Given the description of an element on the screen output the (x, y) to click on. 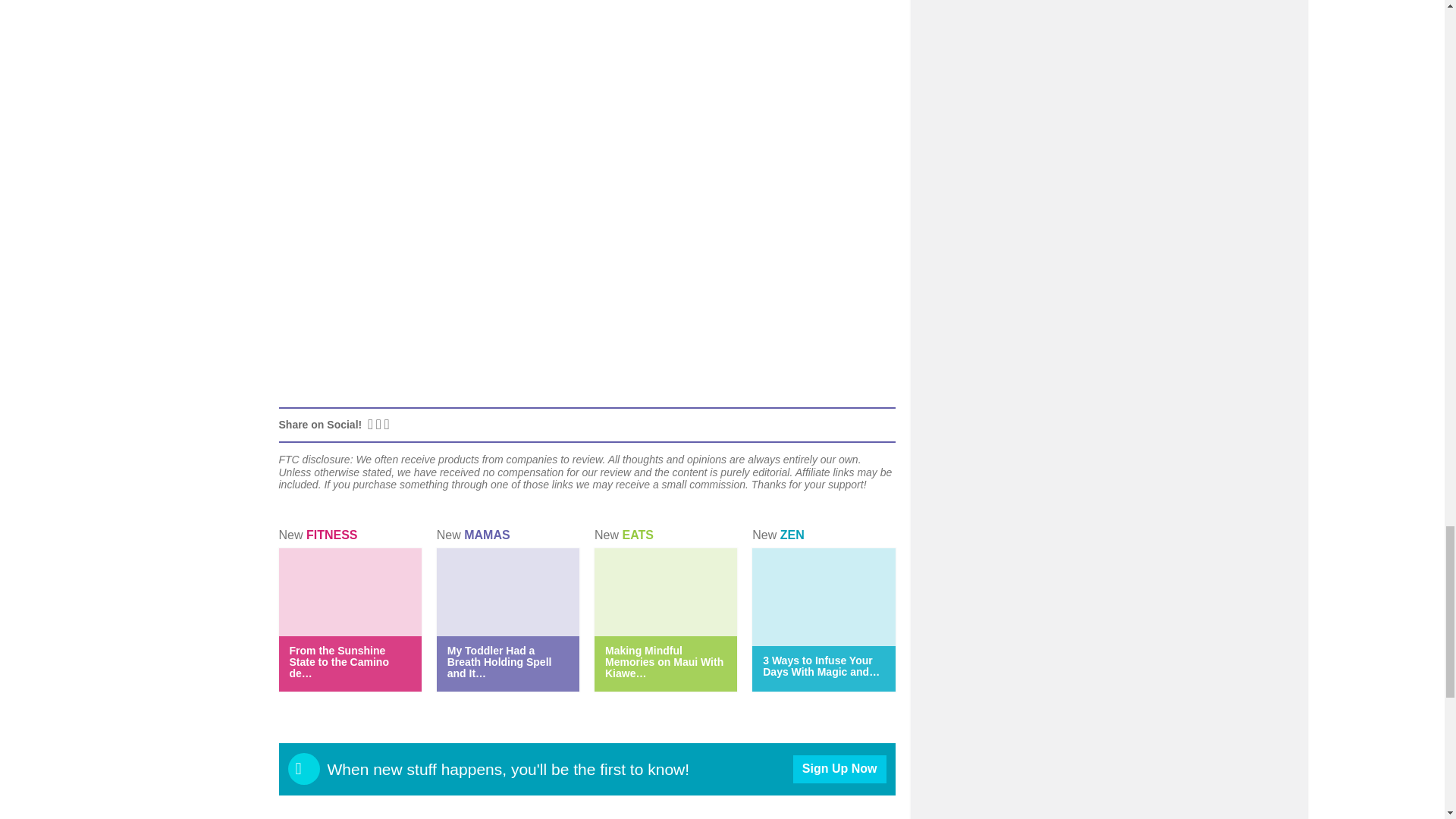
From the Sunshine State to the Camino de Santiago (338, 661)
Making Mindful Memories on Maui With Kiawe Outdoor (664, 661)
My Toddler Had a Breath Holding Spell and It Was Scary AF (498, 661)
3 Ways to Infuse Your Days With Magic and Meaning (820, 666)
